Given the description of an element on the screen output the (x, y) to click on. 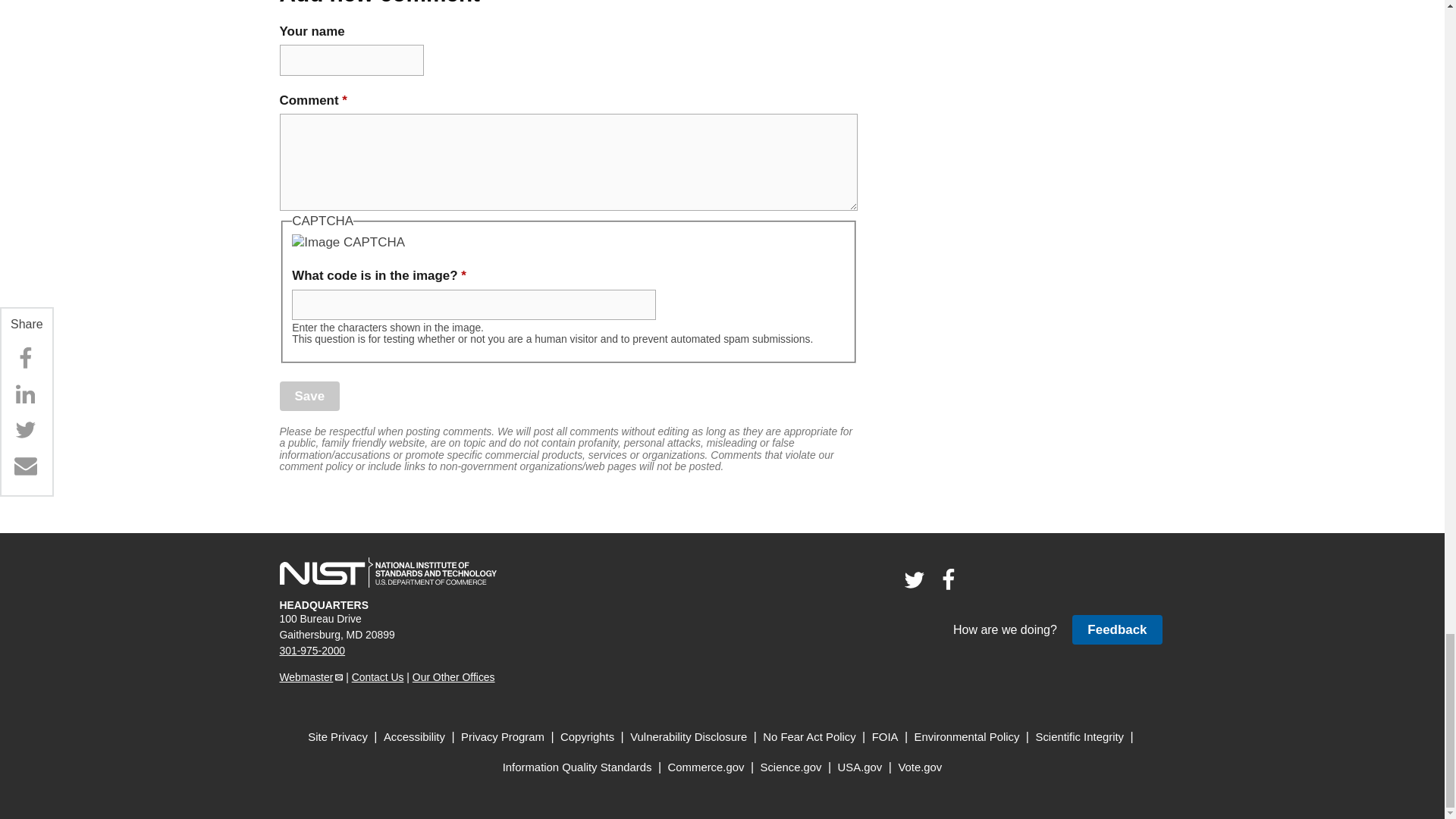
National Institute of Standards and Technology (387, 572)
Save (309, 396)
Save (309, 396)
Provide feedback (1116, 629)
Image CAPTCHA (348, 242)
